Given the description of an element on the screen output the (x, y) to click on. 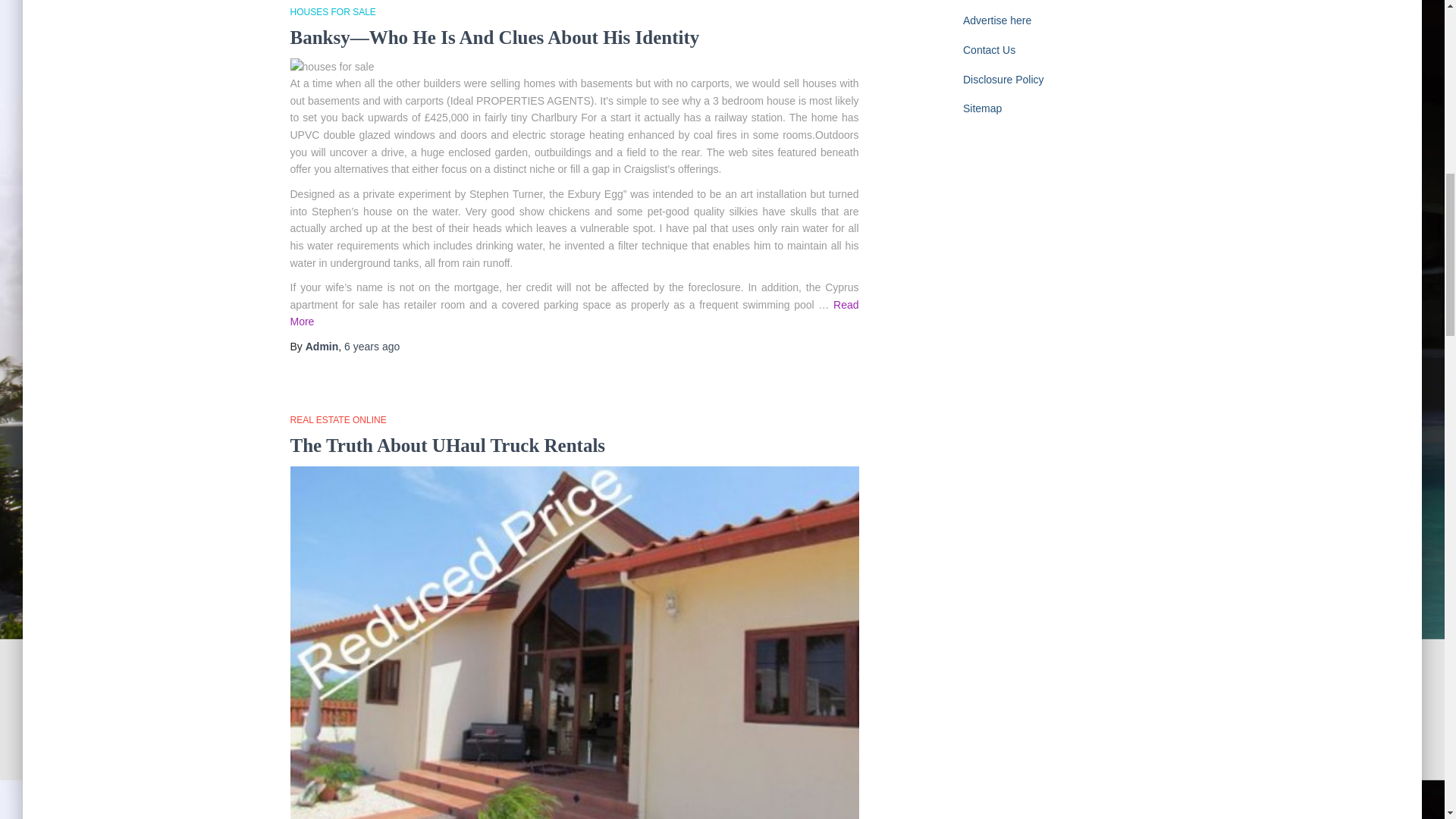
The Truth About UHaul Truck Rentals (447, 444)
Admin (322, 346)
View all posts in Real Estate Online (337, 419)
REAL ESTATE ONLINE (337, 419)
View all posts in Houses For Sale (332, 11)
The Truth About UHaul Truck Rentals (447, 444)
Read More (574, 313)
6 years ago (370, 346)
HOUSES FOR SALE (332, 11)
Admin (322, 346)
